Given the description of an element on the screen output the (x, y) to click on. 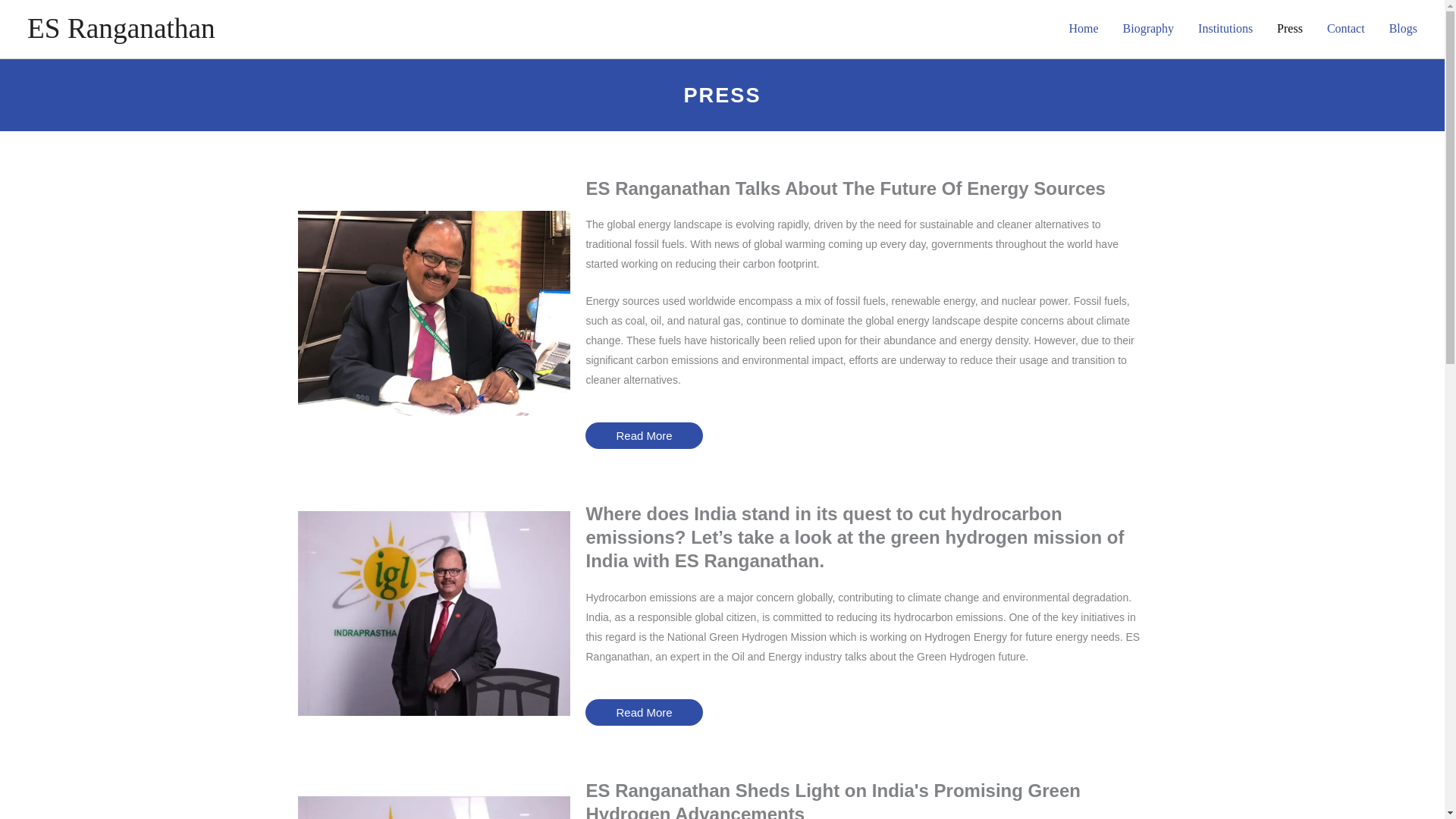
Read More (643, 712)
ES Ranganathan (121, 28)
Home (1083, 28)
Blogs (1403, 28)
Contact (1345, 28)
Read More (643, 435)
Institutions (1225, 28)
Press (1289, 28)
Biography (1148, 28)
